Given the description of an element on the screen output the (x, y) to click on. 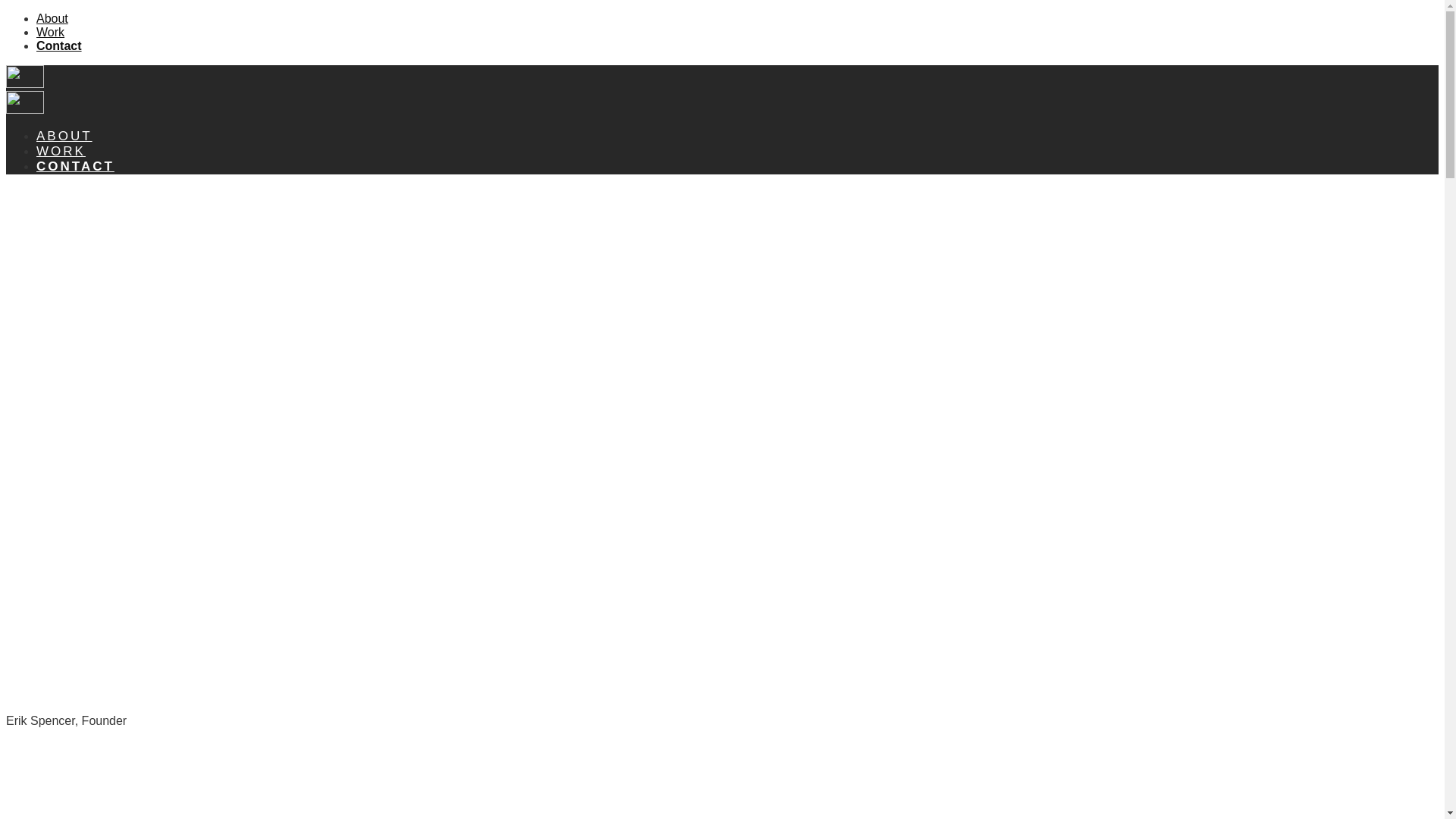
About (52, 18)
Work (50, 31)
ABOUT (64, 135)
WORK (60, 150)
